Given the description of an element on the screen output the (x, y) to click on. 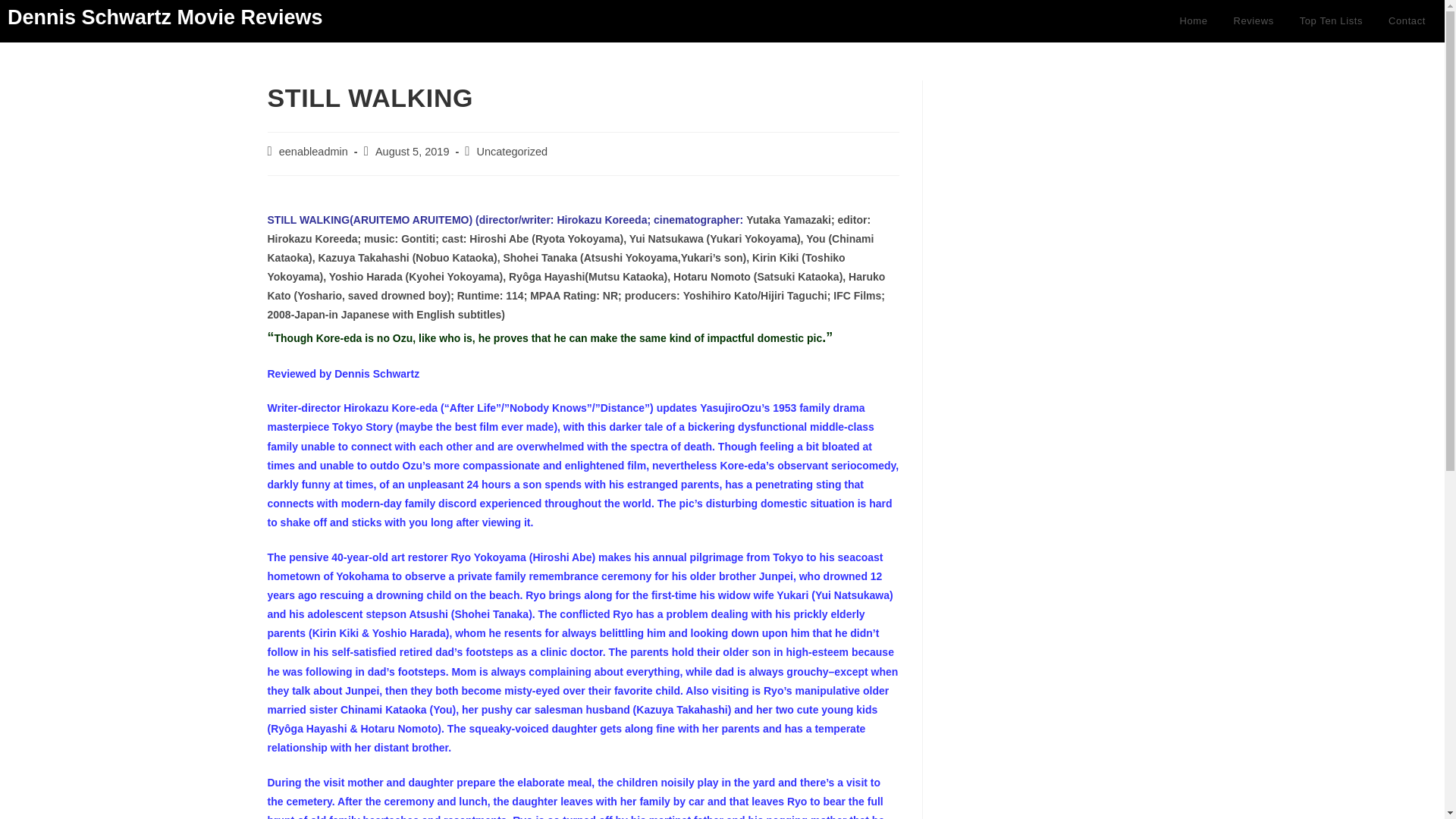
Reviews (1252, 21)
Top Ten Lists (1331, 21)
Home (1192, 21)
Contact (1407, 21)
eenableadmin (313, 151)
Posts by eenableadmin (313, 151)
